Given the description of an element on the screen output the (x, y) to click on. 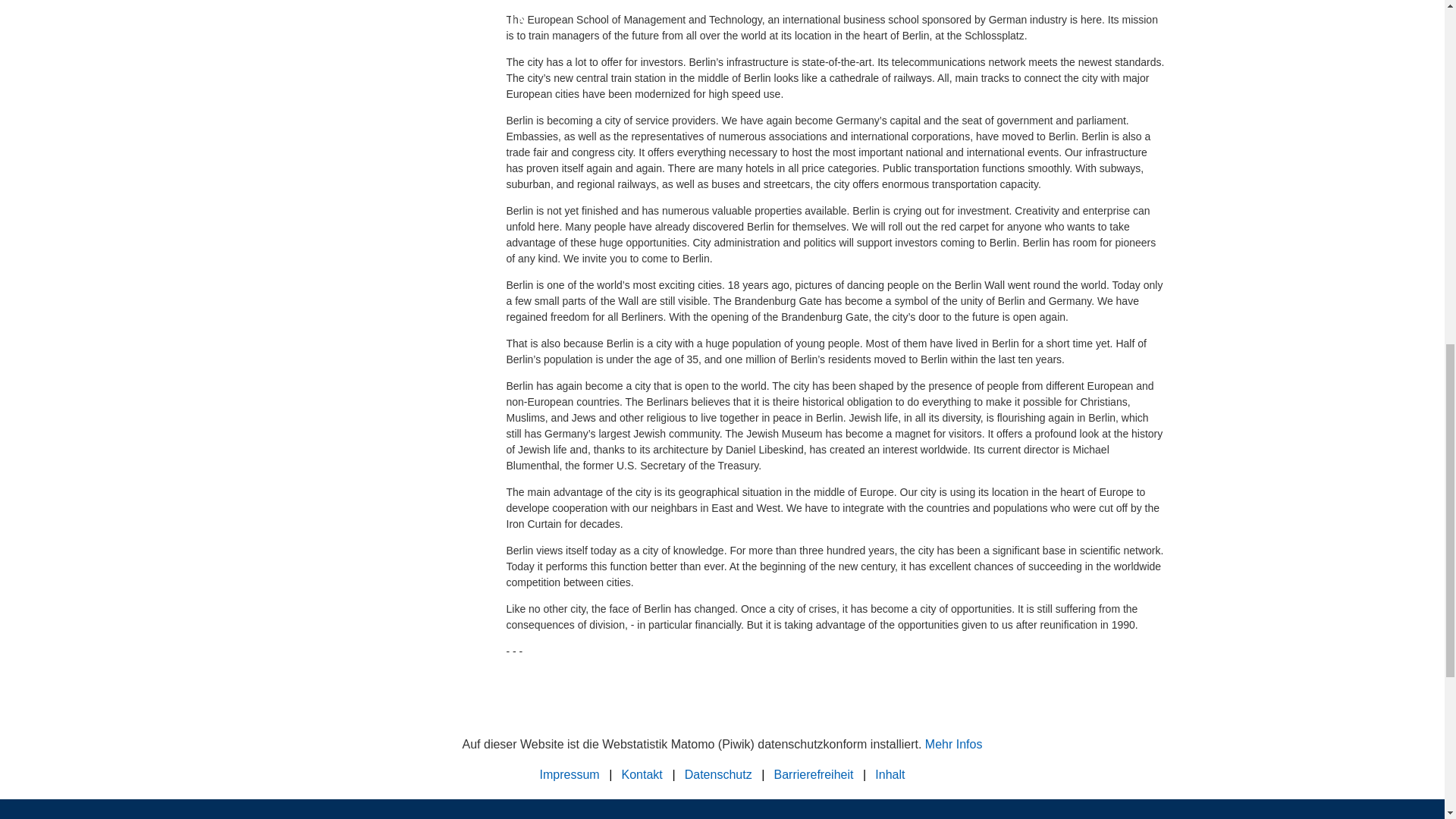
Barrierefreiheit (813, 774)
Inhalt (889, 774)
Impressum (569, 774)
Datenschutz (718, 774)
Kontakt (641, 774)
Mehr Infos (953, 744)
